Given the description of an element on the screen output the (x, y) to click on. 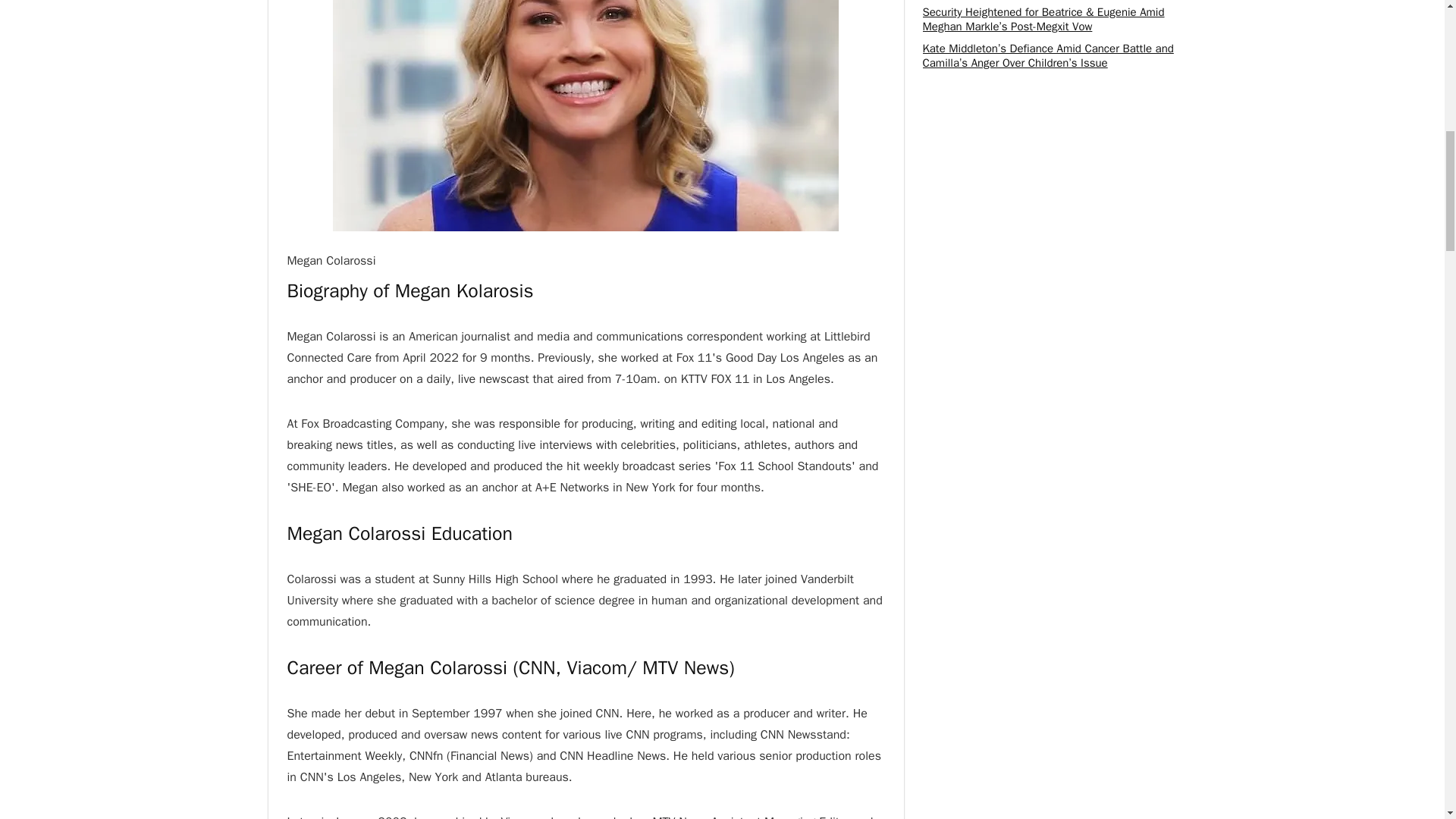
Megan Colarossi Bio Age FOX 11 Husband Family Height Salary (585, 115)
